Given the description of an element on the screen output the (x, y) to click on. 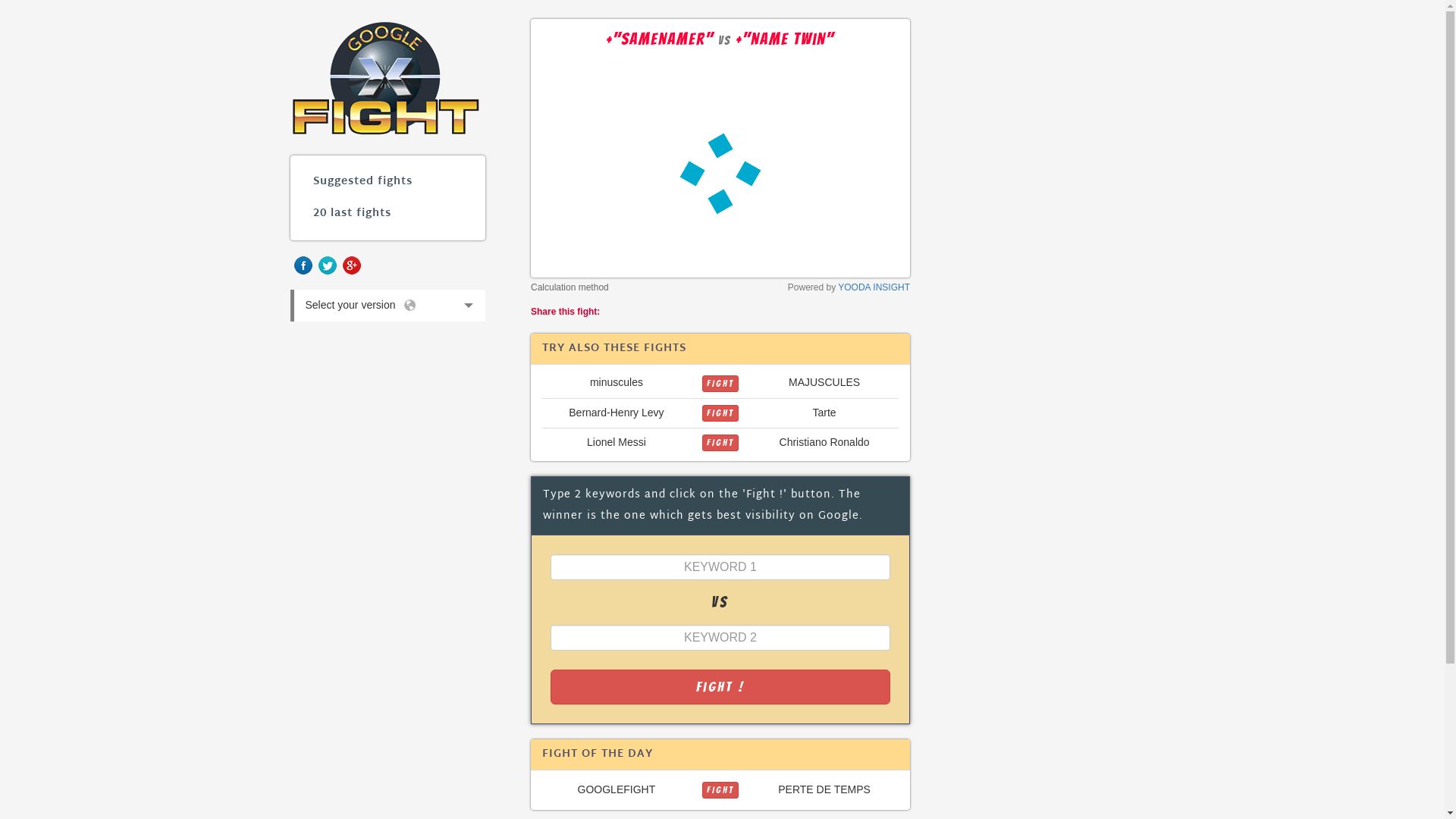
FIGHT Element type: text (720, 412)
FIGHT Element type: text (720, 412)
Fight ! Element type: text (720, 686)
Advertisement Element type: hover (1054, 245)
YOODA INSIGHT Element type: text (873, 287)
20 last fights Element type: text (387, 213)
Calculation method Element type: text (569, 287)
FIGHT Element type: text (720, 383)
FIGHT Element type: text (720, 382)
Suggested fights Element type: text (387, 181)
FIGHT Element type: text (720, 442)
FIGHT Element type: text (720, 789)
FIGHT Element type: text (720, 789)
FIGHT Element type: text (720, 442)
